Given the description of an element on the screen output the (x, y) to click on. 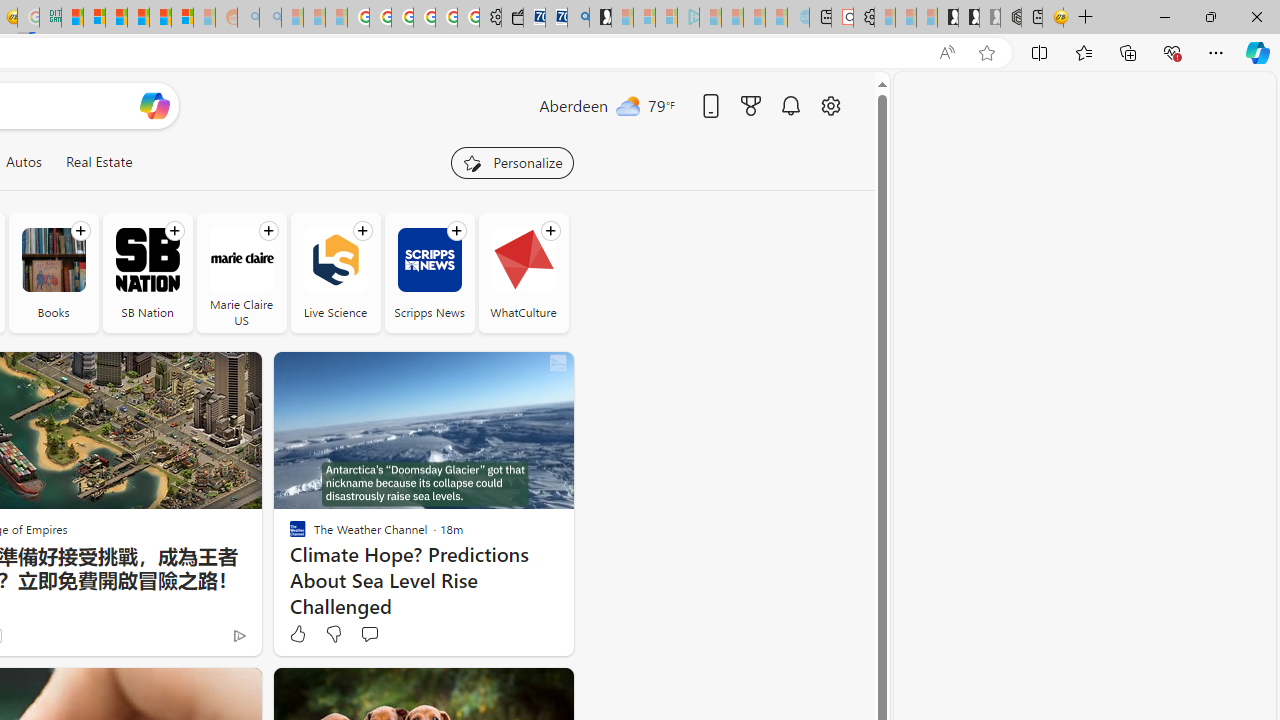
SB Nation (147, 272)
Scripps News (429, 272)
Kinda Frugal - MSN (160, 17)
Live Science (335, 260)
Live Science (335, 272)
